Given the description of an element on the screen output the (x, y) to click on. 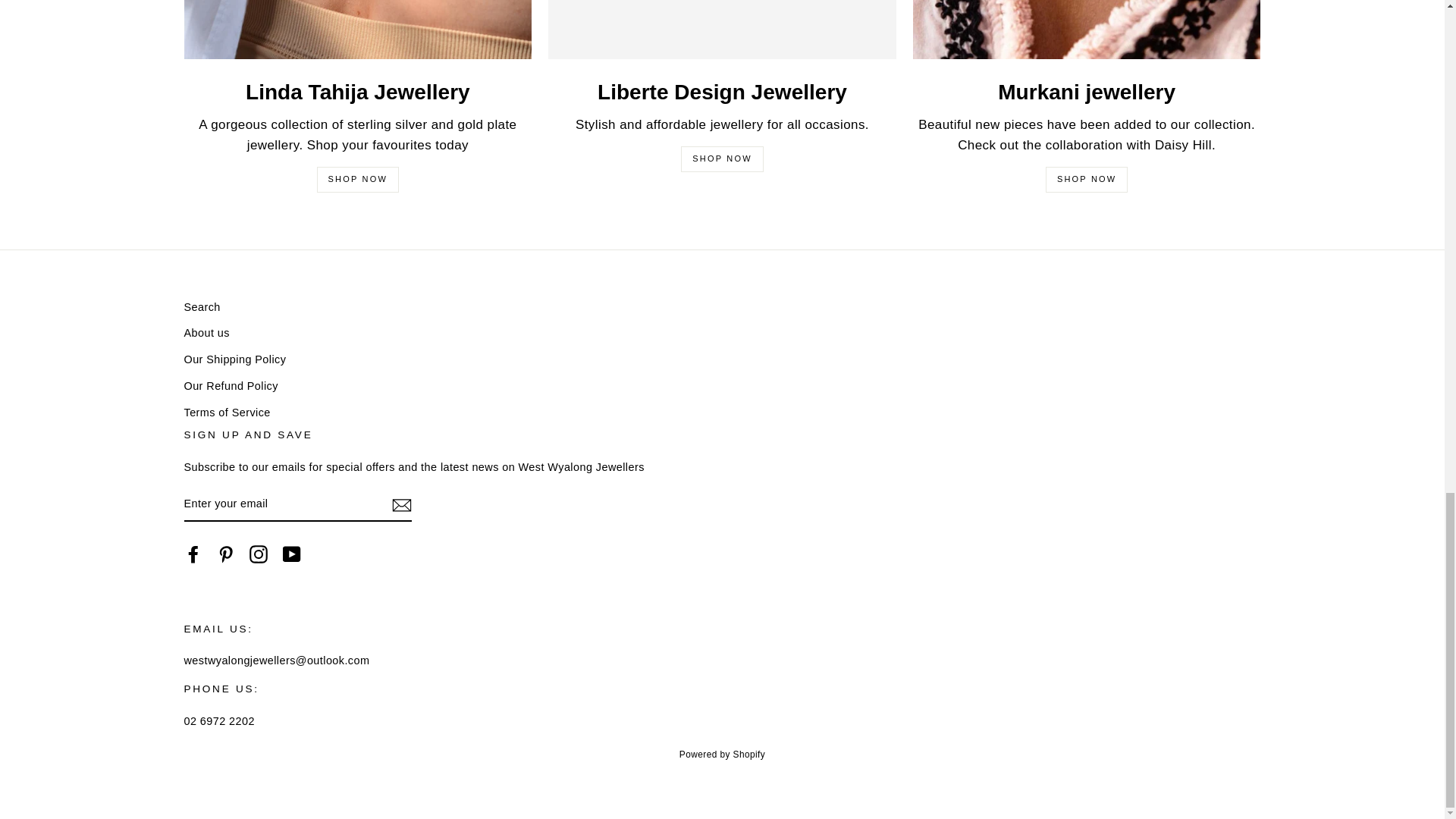
West Wyalong Jewellers on Instagram (257, 553)
West Wyalong Jewellers on Facebook (192, 553)
West Wyalong Jewellers on Pinterest (225, 553)
West Wyalong Jewellers on YouTube (291, 553)
